Given the description of an element on the screen output the (x, y) to click on. 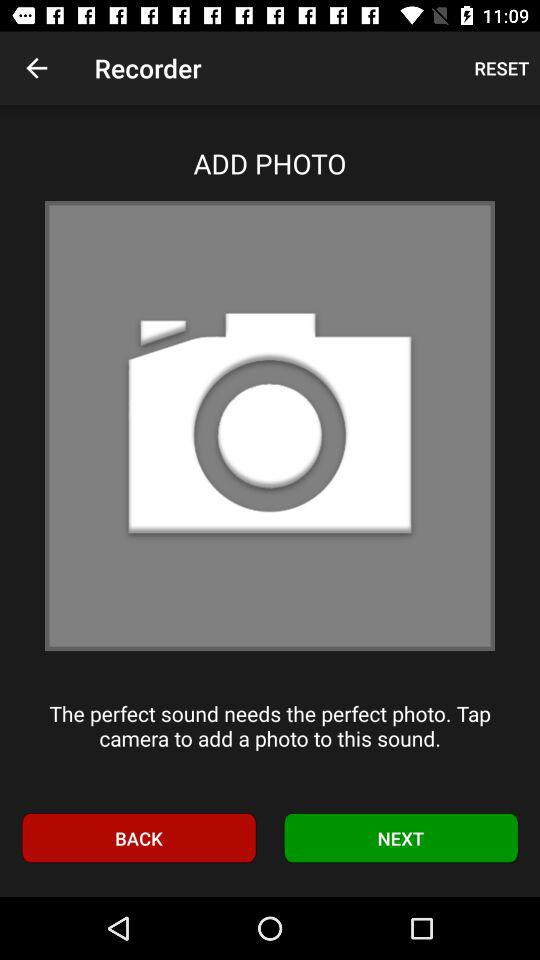
add a photo (270, 426)
